Given the description of an element on the screen output the (x, y) to click on. 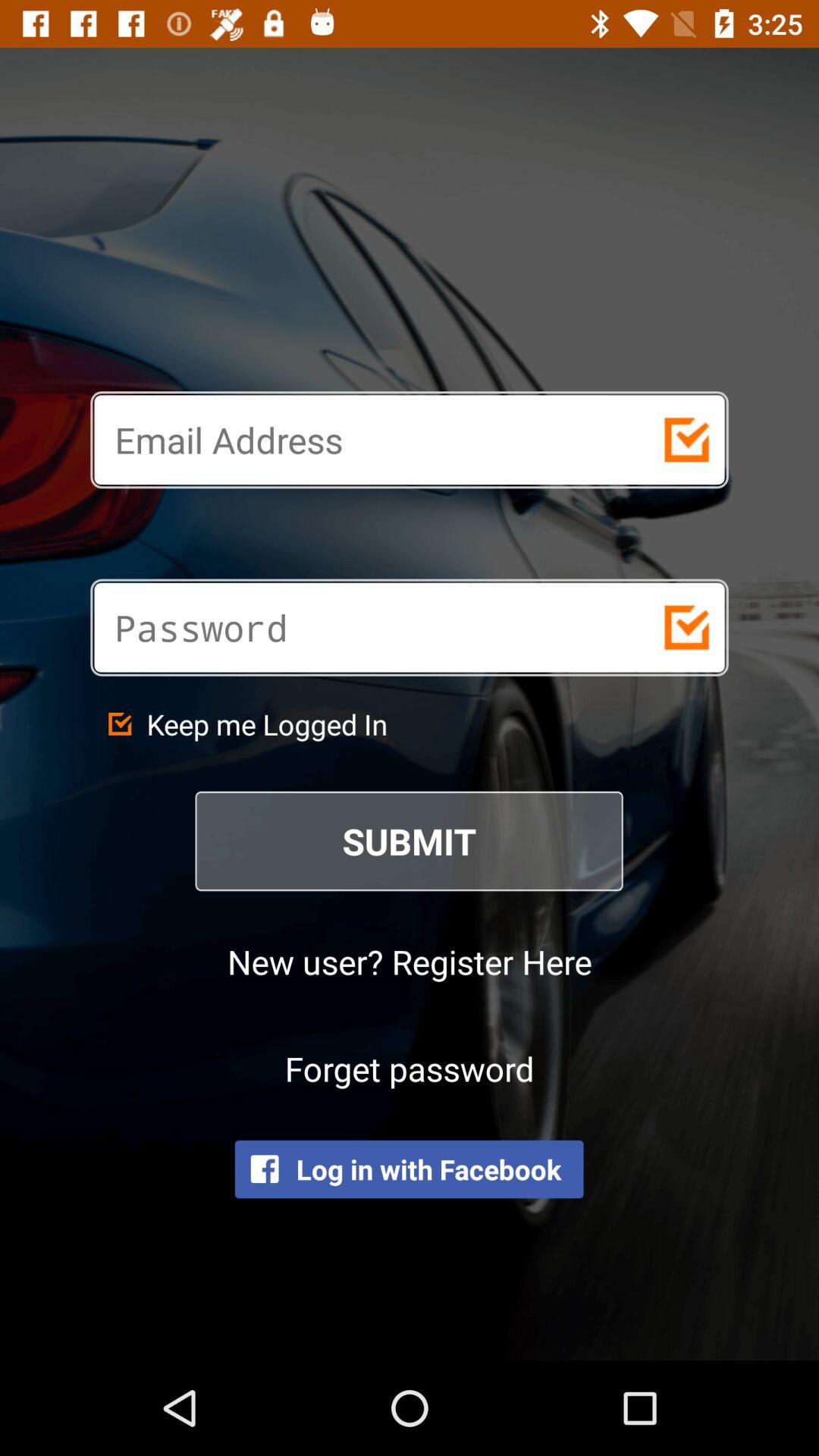
press the item above the forget password icon (409, 961)
